Given the description of an element on the screen output the (x, y) to click on. 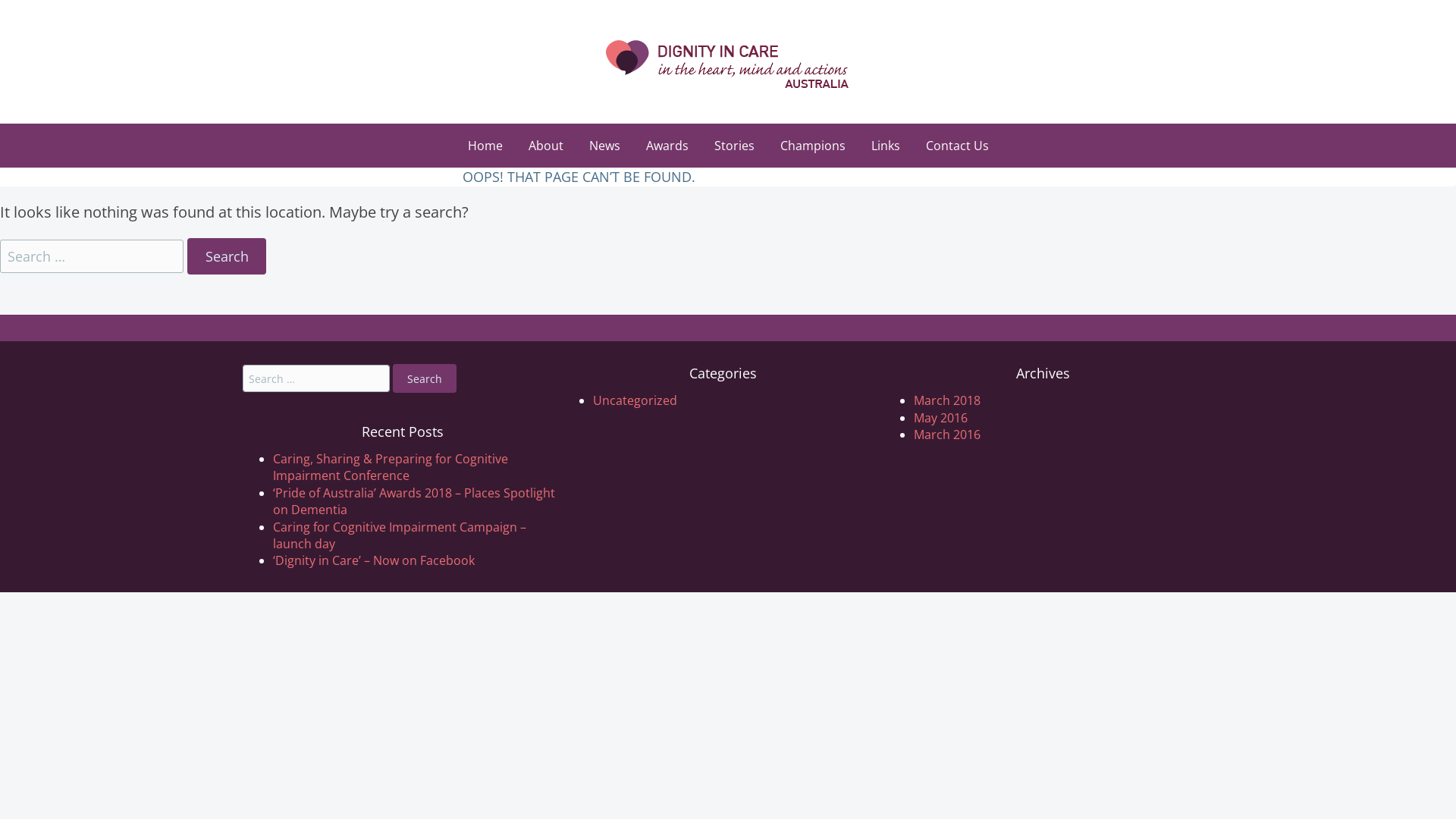
Uncategorized Element type: text (635, 400)
Contact Us Element type: text (957, 145)
Stories Element type: text (733, 145)
Search Element type: text (424, 378)
About Element type: text (545, 145)
Home Element type: text (485, 145)
March 2018 Element type: text (946, 400)
News Element type: text (604, 145)
May 2016 Element type: text (940, 417)
Champions Element type: text (812, 145)
Search Element type: text (226, 256)
Links Element type: text (885, 145)
March 2016 Element type: text (946, 434)
Awards Element type: text (666, 145)
Skip to content Element type: text (54, 138)
